Given the description of an element on the screen output the (x, y) to click on. 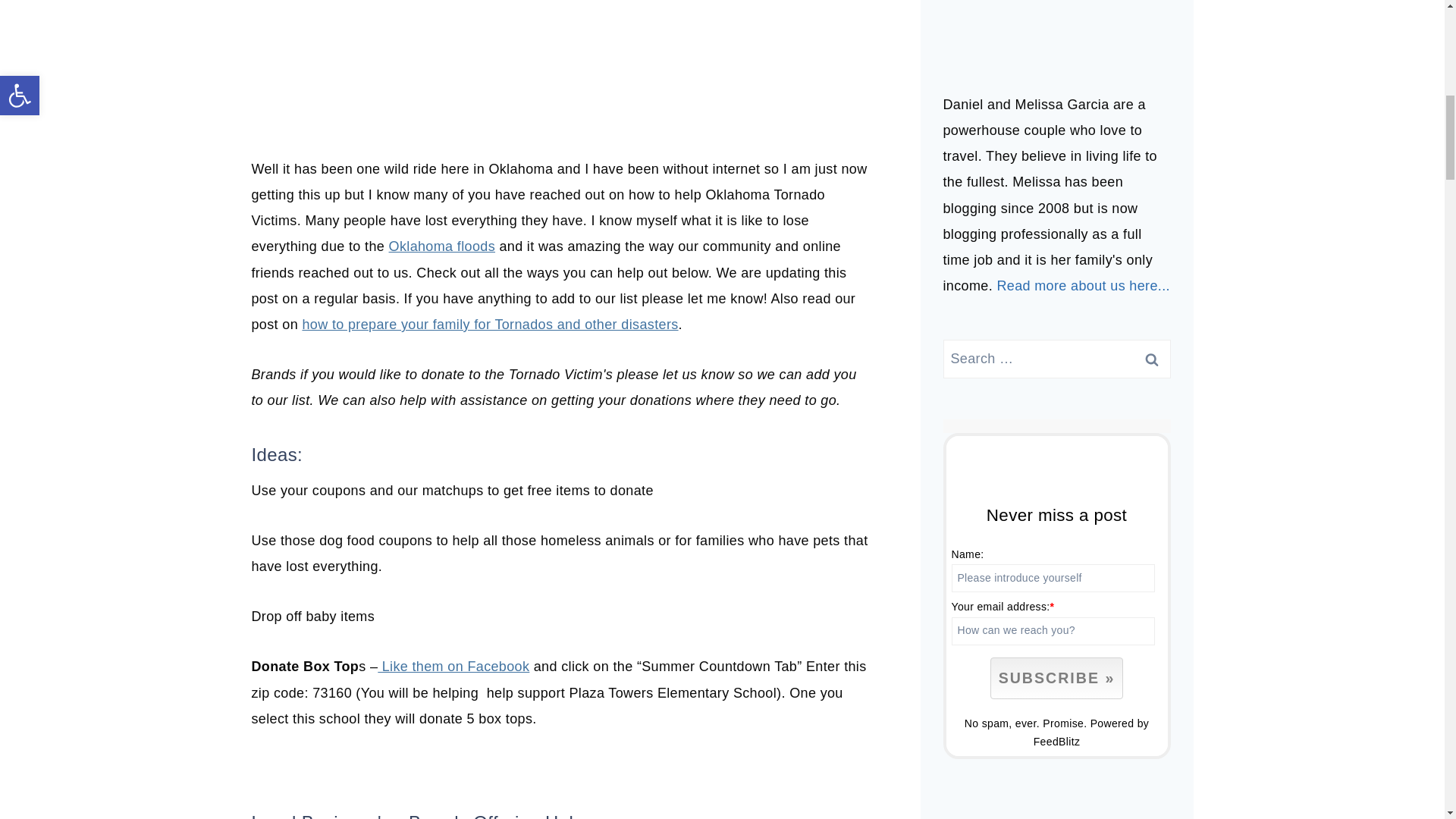
Search (1151, 358)
Search (1151, 358)
click to join (1056, 678)
Please introduce yourself (1052, 578)
How can we reach you? (1052, 631)
